Given the description of an element on the screen output the (x, y) to click on. 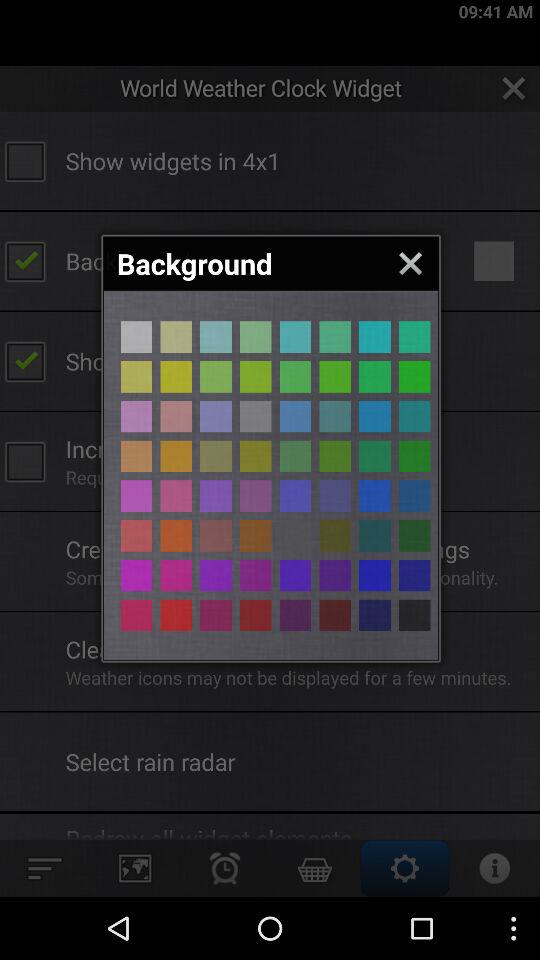
backround color button (255, 615)
